Given the description of an element on the screen output the (x, y) to click on. 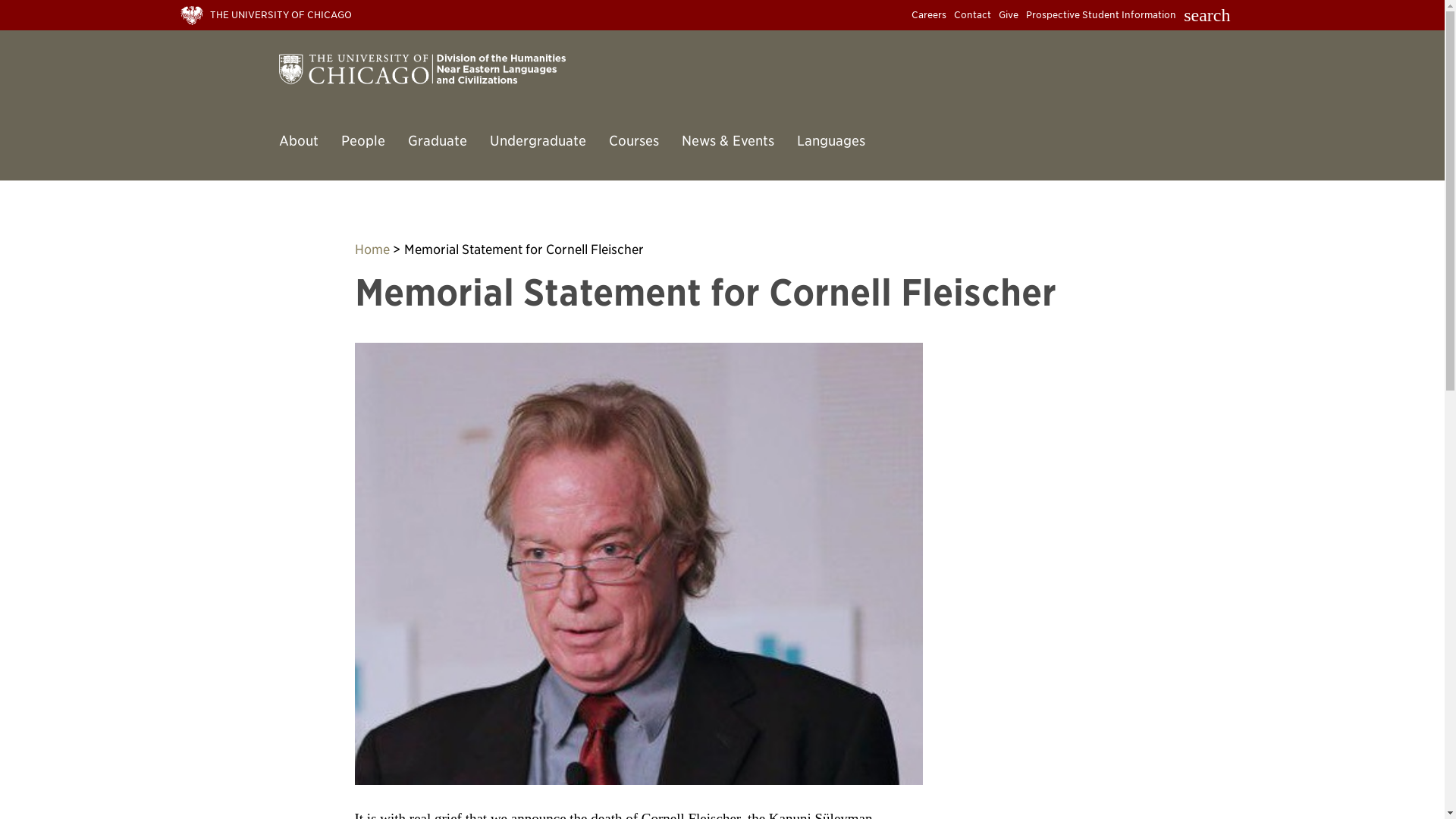
Contact (972, 14)
Give (1007, 14)
Courses (621, 144)
Careers (928, 14)
Prospective Student Information (1101, 14)
THE UNIVERSITY OF CHICAGO (270, 14)
